Given the description of an element on the screen output the (x, y) to click on. 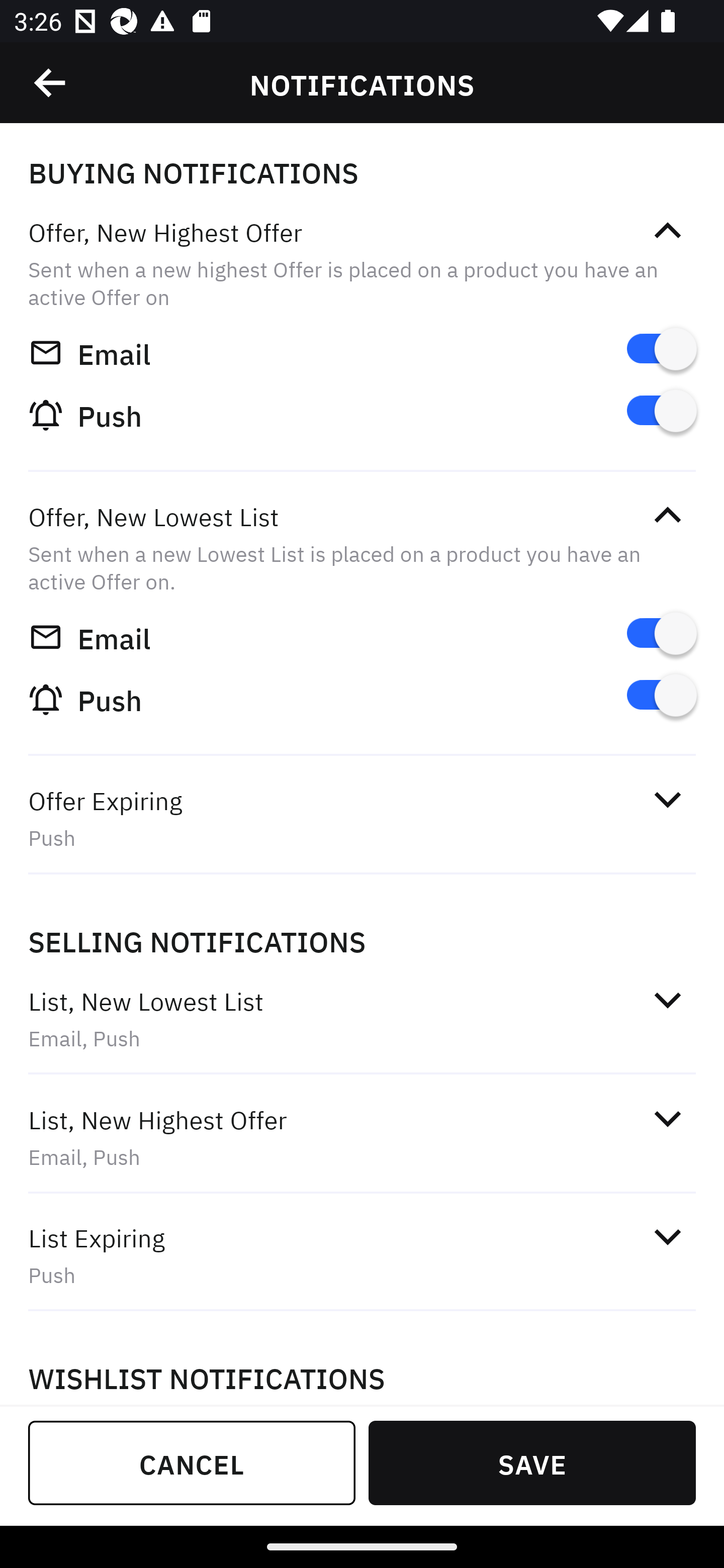
 (50, 83)
 (667, 231)
 (667, 514)
Offer Expiring  Push (361, 818)
 (667, 799)
List, New Lowest List  Email, Push (361, 1018)
 (667, 999)
List, New Highest Offer  Email, Push (361, 1137)
 (667, 1118)
List Expiring  Push (361, 1254)
 (667, 1236)
CANCEL (191, 1462)
SAVE (531, 1462)
